Given the description of an element on the screen output the (x, y) to click on. 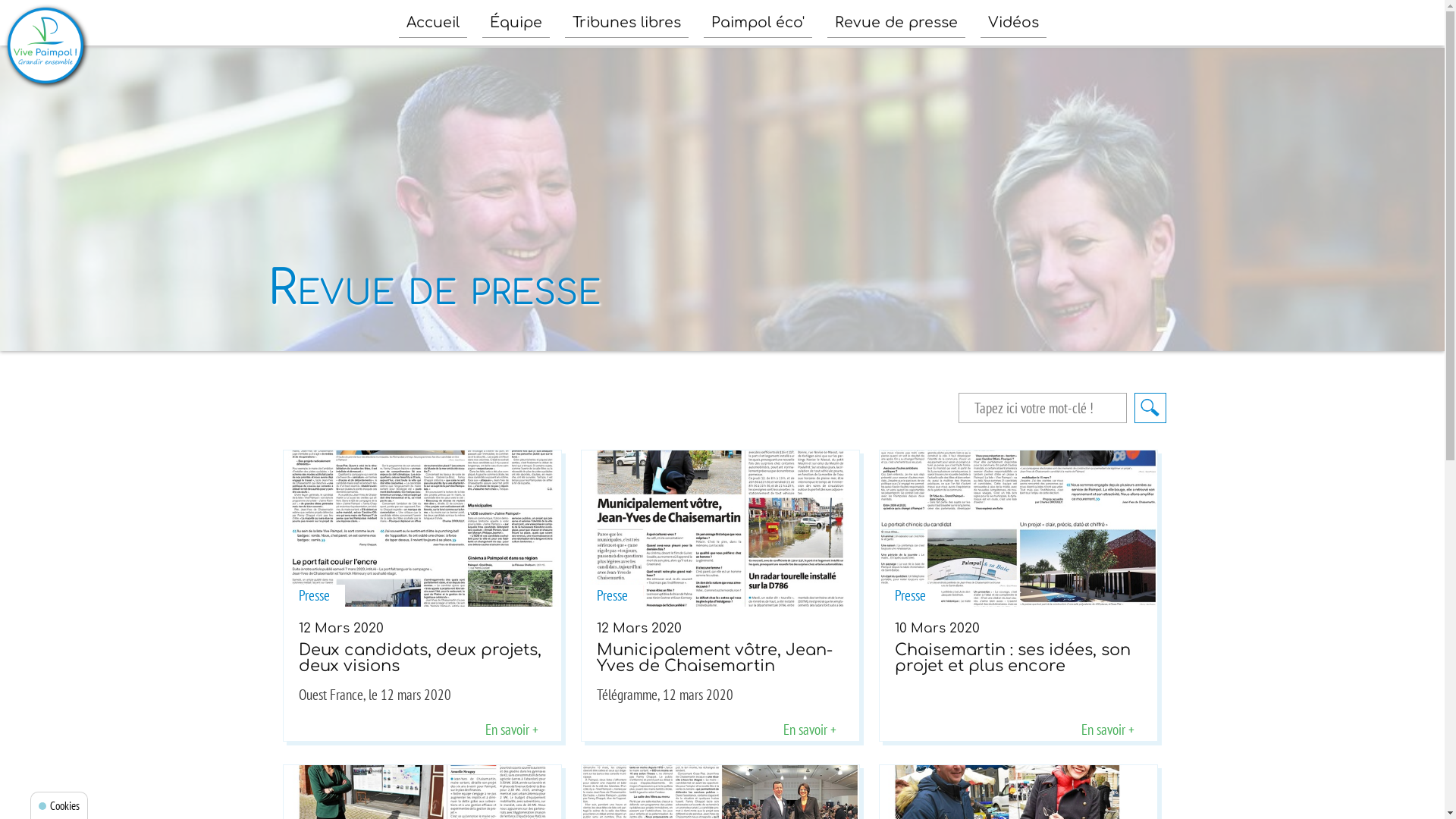
vive-paimpol Element type: hover (45, 45)
Revue de presse Element type: text (895, 22)
Deux candidats, deux projets, deux visions Element type: hover (422, 528)
Afficher la liste Element type: text (1150, 407)
Tribunes libres Element type: text (625, 22)
Accueil Element type: text (432, 22)
